Given the description of an element on the screen output the (x, y) to click on. 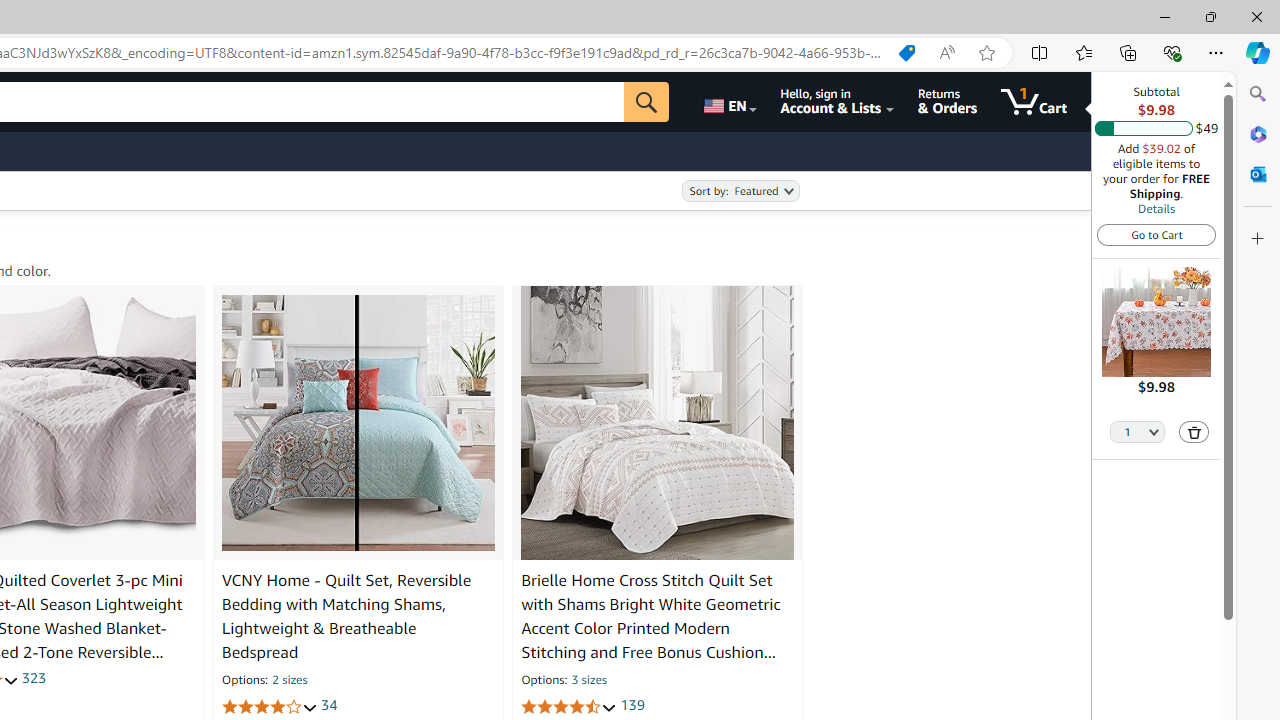
Microsoft 365 (1258, 133)
3 sizes (588, 681)
Delete (1194, 431)
Details (1156, 208)
Shopping in Microsoft Edge (906, 53)
323 (33, 678)
34 (328, 705)
Sort by: (740, 191)
Go to Cart (1156, 234)
